Given the description of an element on the screen output the (x, y) to click on. 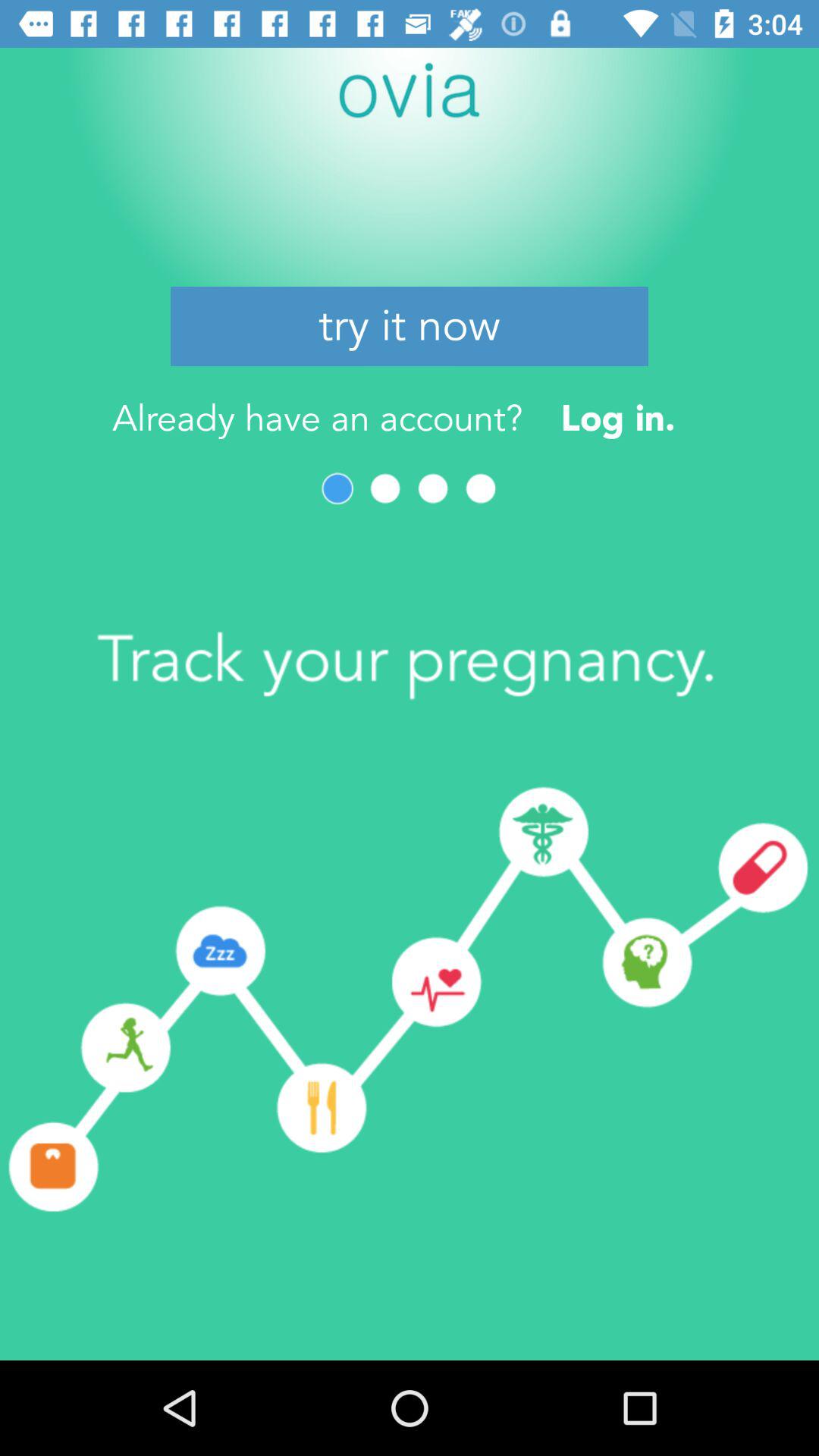
tap the icon below the already have an (385, 488)
